Given the description of an element on the screen output the (x, y) to click on. 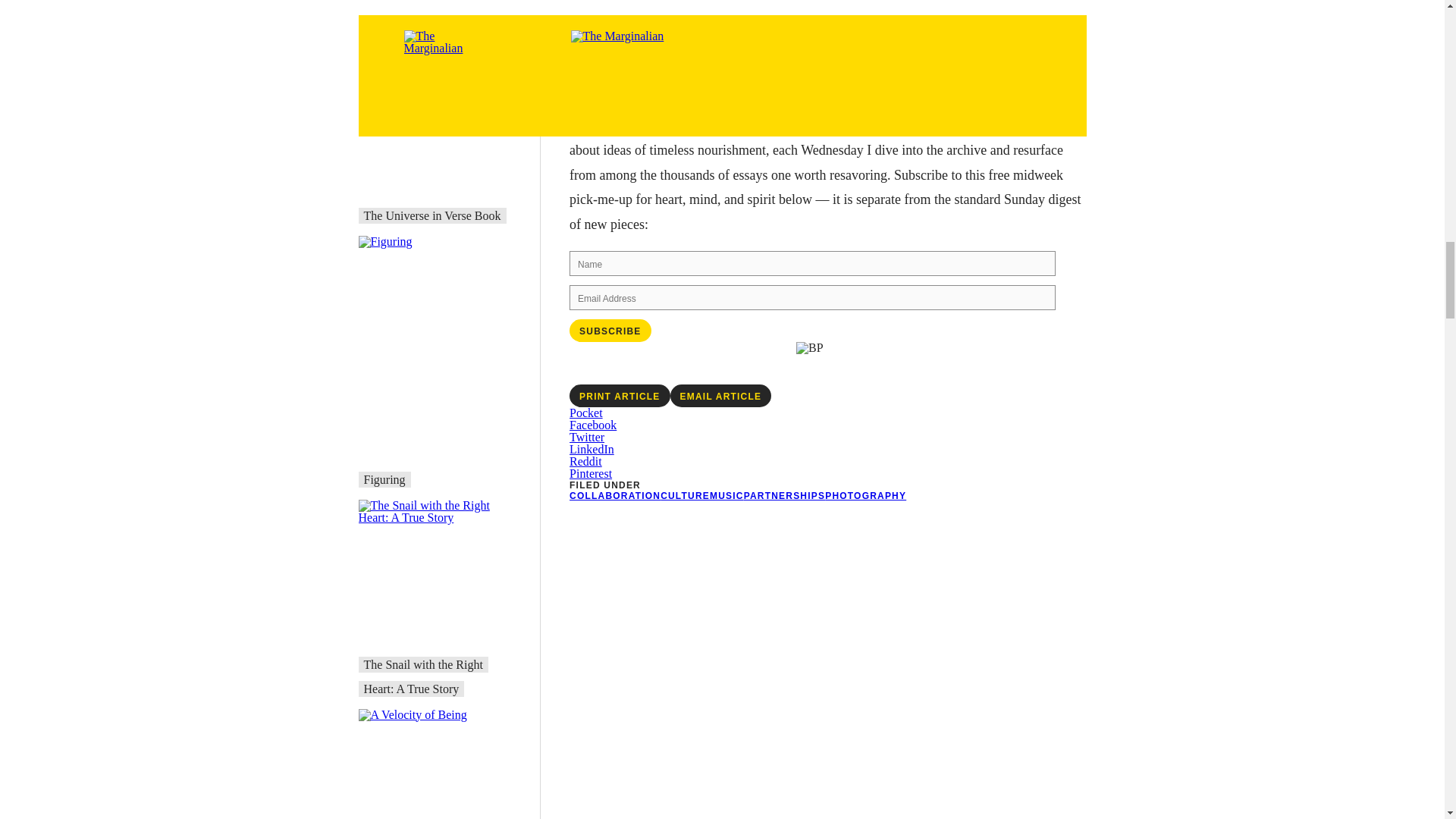
Subscribe (609, 330)
Click to share on Pinterest (590, 472)
Click to share on Twitter (586, 436)
The Universe in Verse Book (432, 215)
The Snail with the Right Heart: A True Story (423, 676)
Click to share on Reddit (585, 461)
Click to share on LinkedIn (591, 449)
Click to share on Facebook (592, 424)
Figuring (385, 479)
Subscribe (609, 47)
Click to share on Pocket (585, 412)
